Given the description of an element on the screen output the (x, y) to click on. 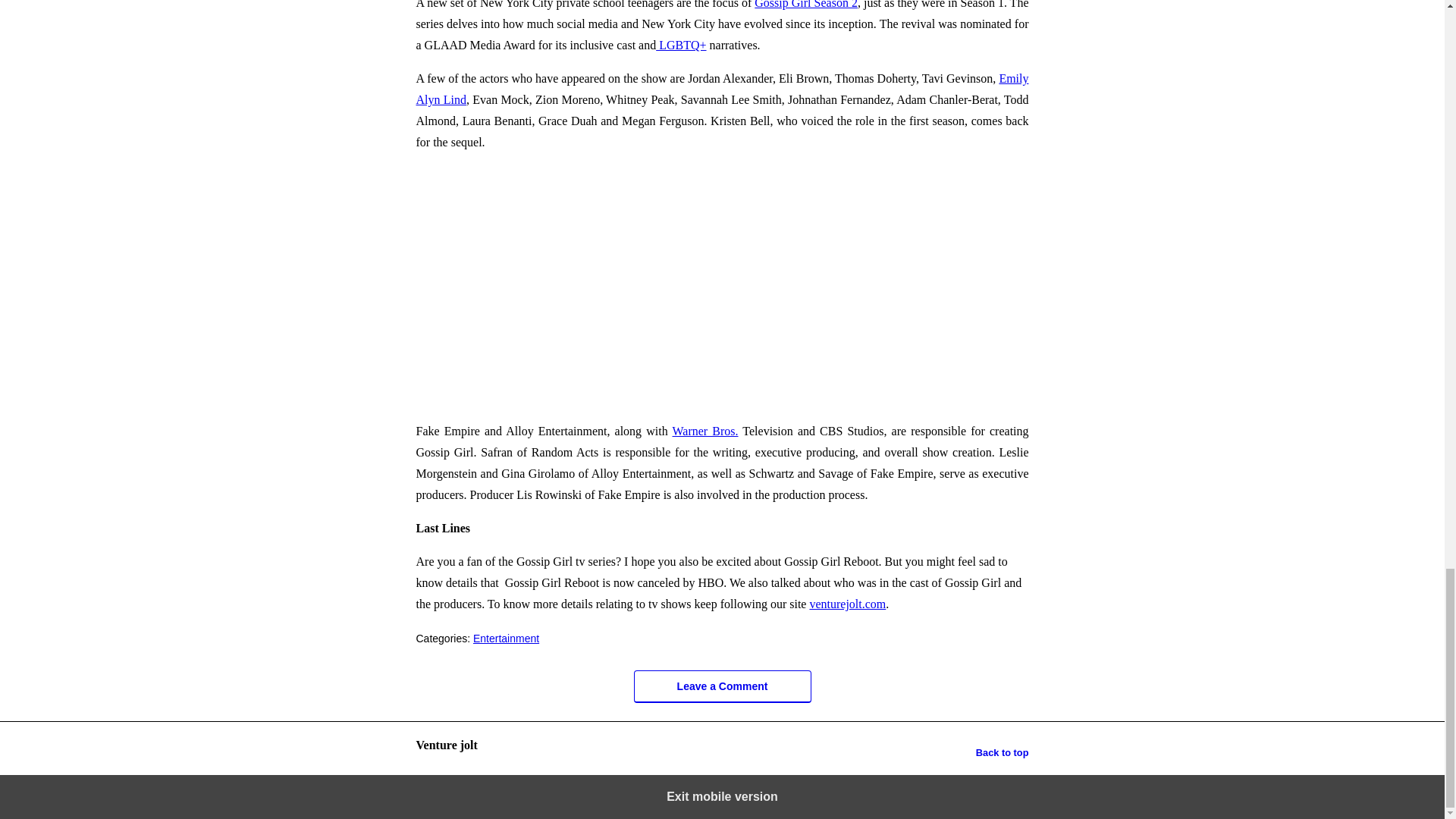
Emily Alyn Lind (720, 89)
Warner Bros. (704, 431)
Leave a Comment (721, 686)
Gossip Girl Season 2 (805, 4)
Entertainment (505, 638)
Back to top (1002, 752)
venturejolt.com (847, 603)
